Given the description of an element on the screen output the (x, y) to click on. 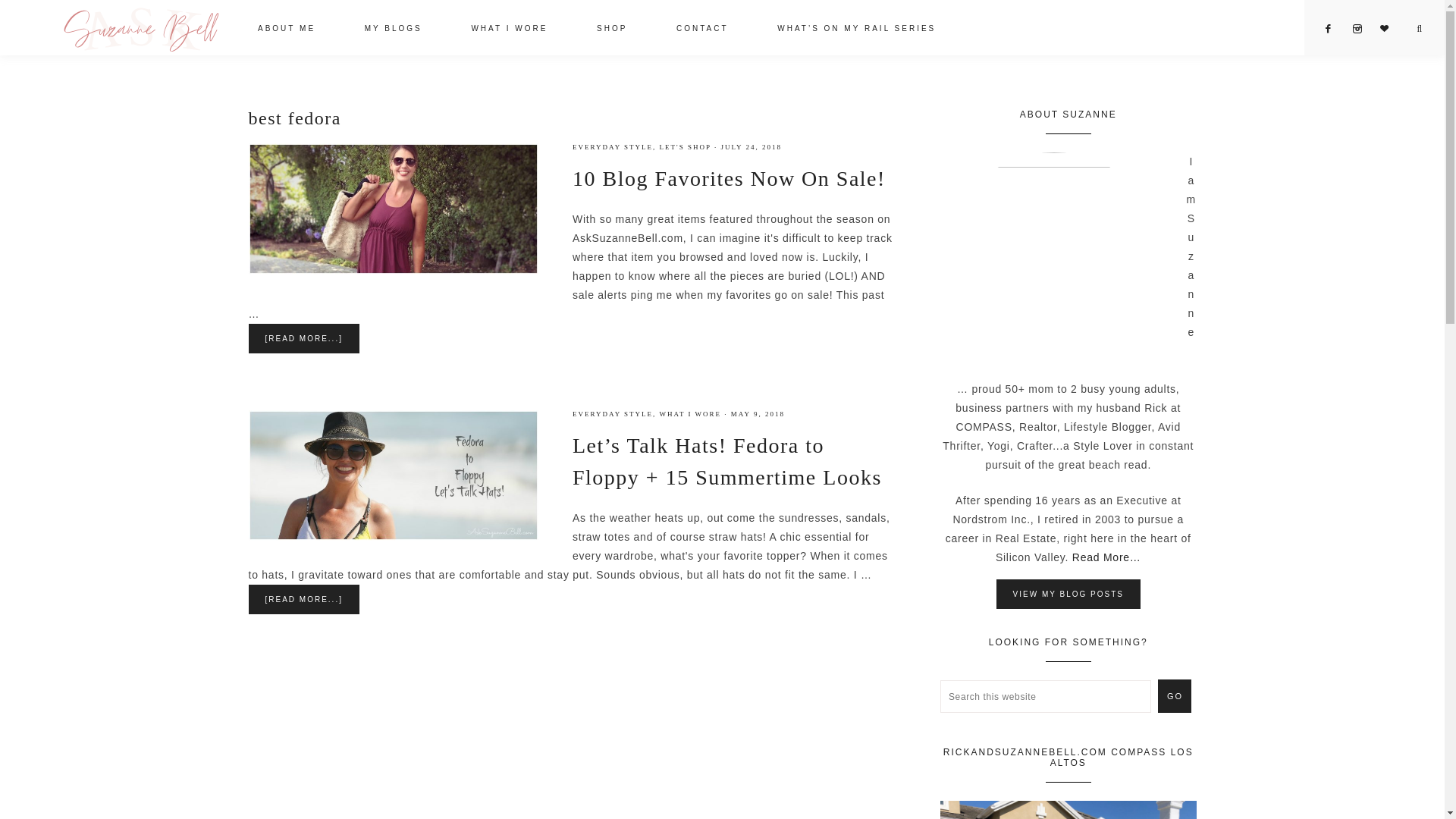
GO (1174, 695)
ASK SUZANNE BELL (141, 27)
Facebook (1335, 29)
MY BLOGS (393, 29)
EVERYDAY STYLE (612, 413)
SHOP (611, 29)
WHAT I WORE (689, 413)
EVERYDAY STYLE (612, 146)
RickandSuzanneBell.com COMPASS Los Altos (1068, 809)
ABOUT ME (285, 29)
CONTACT (702, 29)
Bloglovin (1390, 29)
GO (1174, 695)
WHAT I WORE (509, 29)
